Given the description of an element on the screen output the (x, y) to click on. 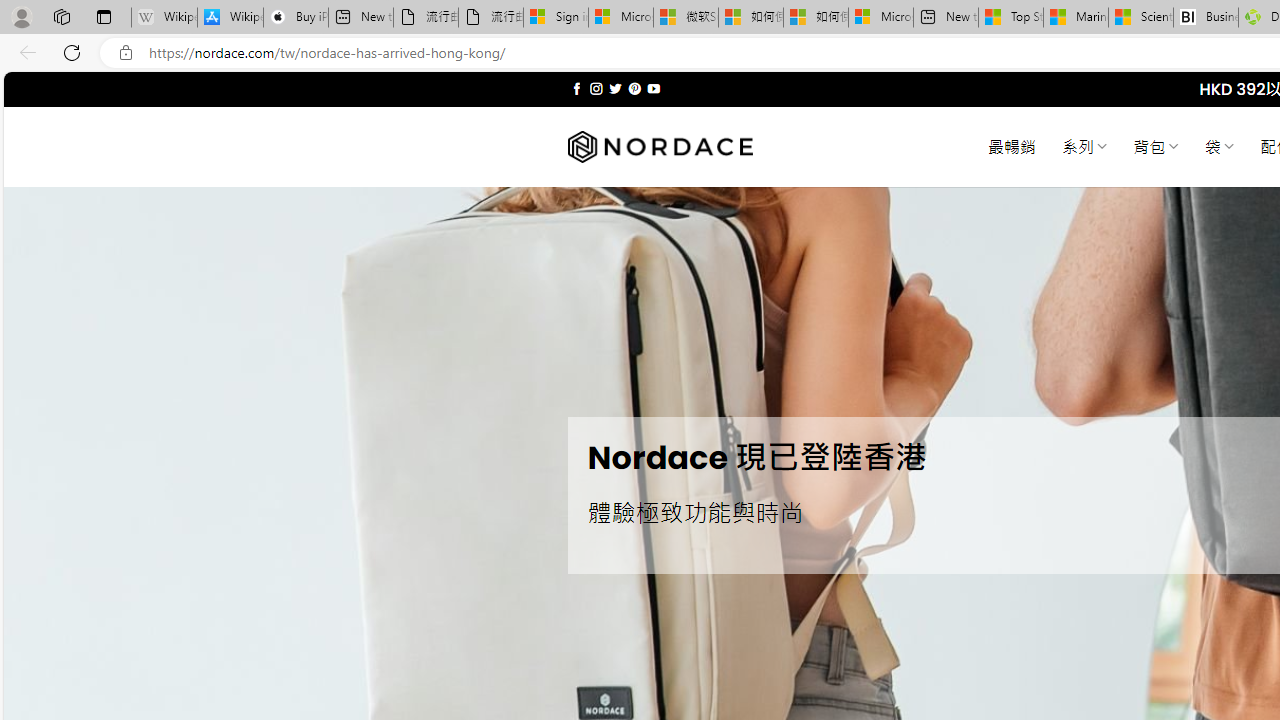
Follow on Facebook (576, 88)
Follow on Twitter (615, 88)
Follow on YouTube (653, 88)
